Given the description of an element on the screen output the (x, y) to click on. 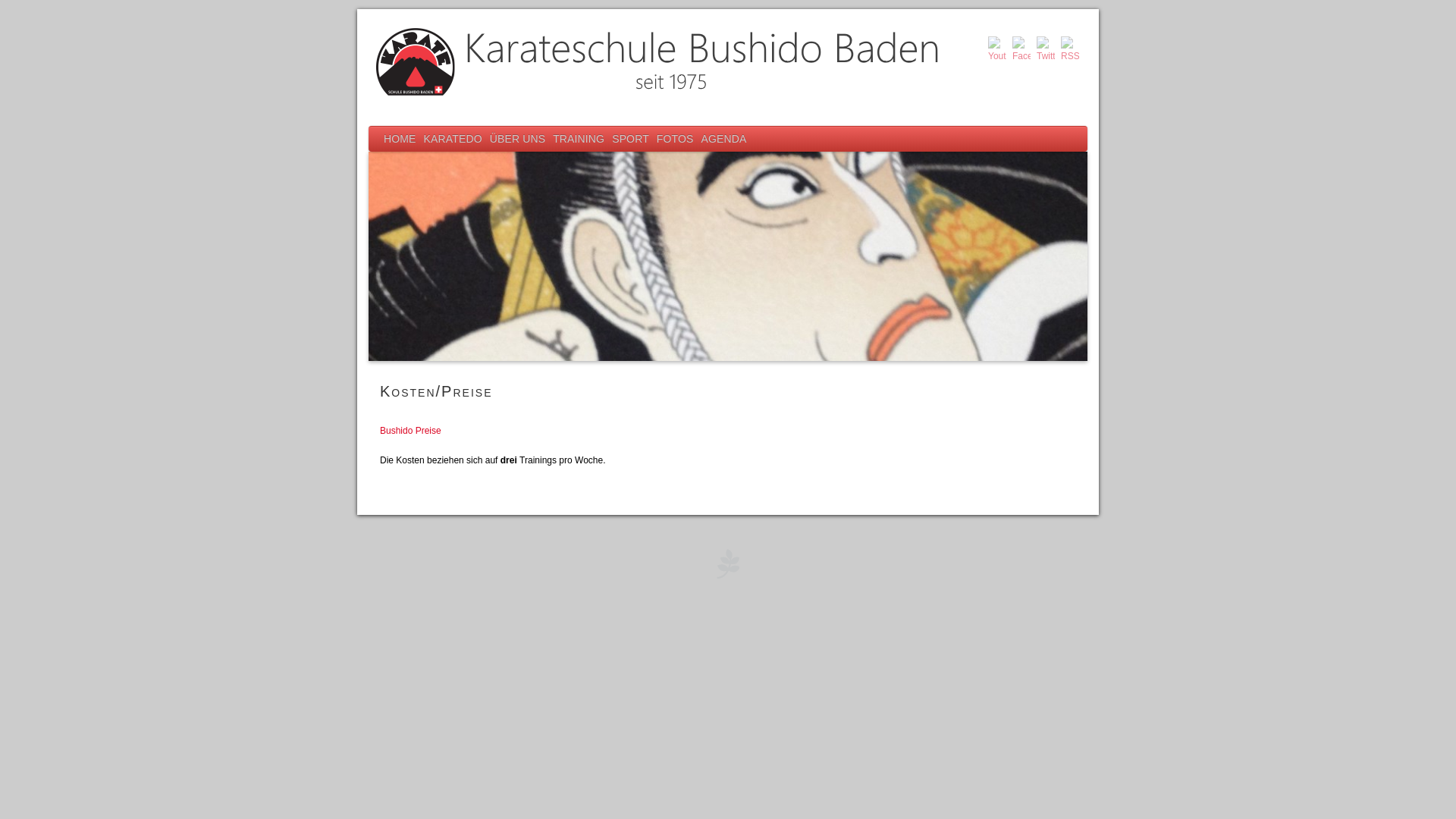
FOTOS Element type: text (674, 138)
HOME Element type: text (399, 138)
Bushido Baden Element type: hover (727, 562)
Bushido Preise Element type: text (410, 430)
SPORT Element type: text (630, 138)
Bushido Baden Element type: hover (727, 62)
KARATEDO Element type: text (453, 138)
AGENDA Element type: text (723, 138)
TRAINING Element type: text (578, 138)
